Given the description of an element on the screen output the (x, y) to click on. 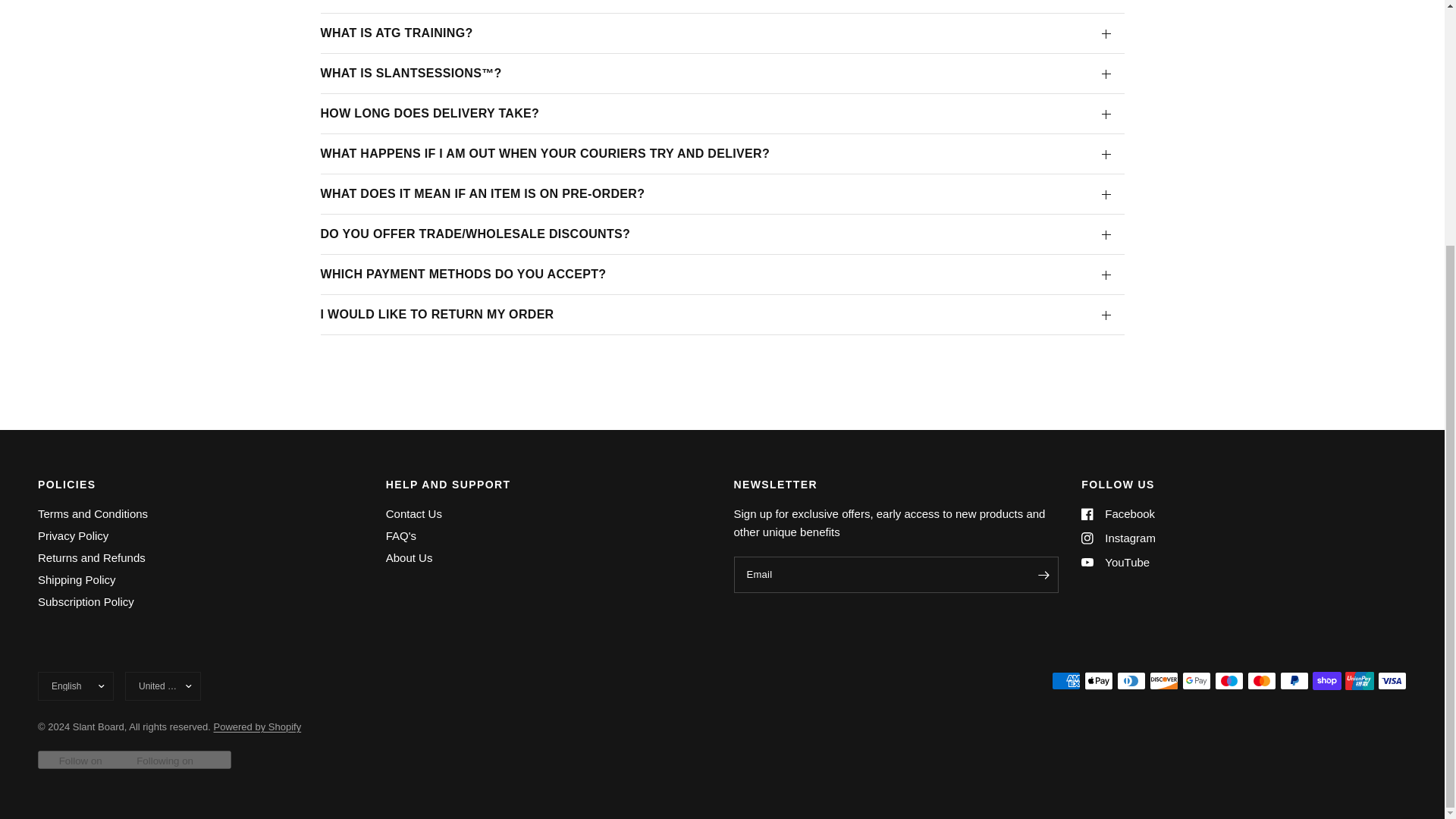
Shipping Policy (76, 579)
Subscription Policy (85, 601)
About Us (408, 557)
Facebook (1117, 514)
Returns and Refunds (91, 557)
HELP AND SUPPORT (548, 484)
POLICIES (199, 484)
Privacy Policy  (72, 535)
Privacy Policy (72, 535)
Contact Us (413, 513)
